Given the description of an element on the screen output the (x, y) to click on. 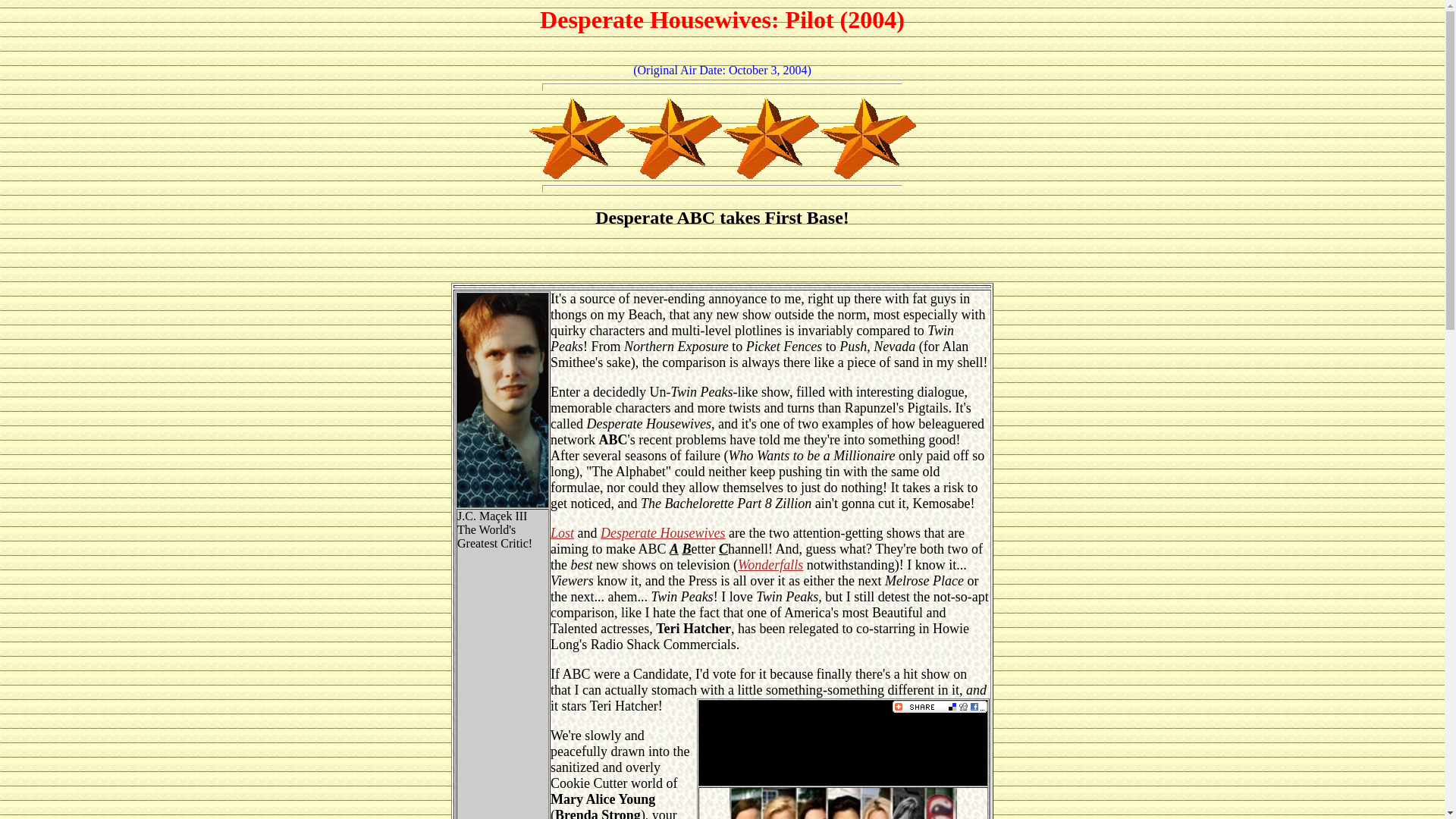
Desperate Housewives (662, 532)
Wonderfalls (770, 564)
Lost (561, 532)
